Given the description of an element on the screen output the (x, y) to click on. 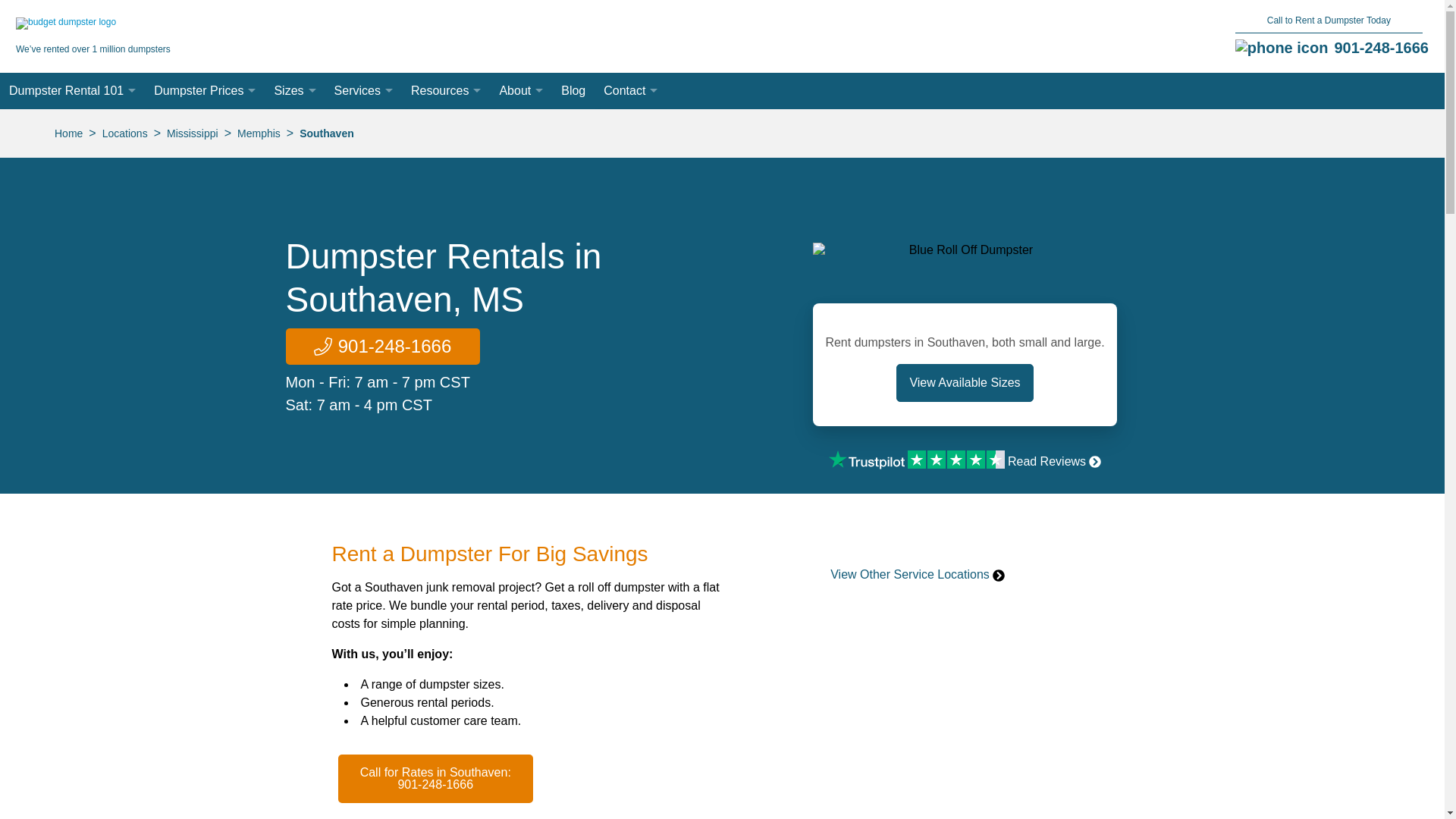
901-248-1666 (1380, 47)
